Given the description of an element on the screen output the (x, y) to click on. 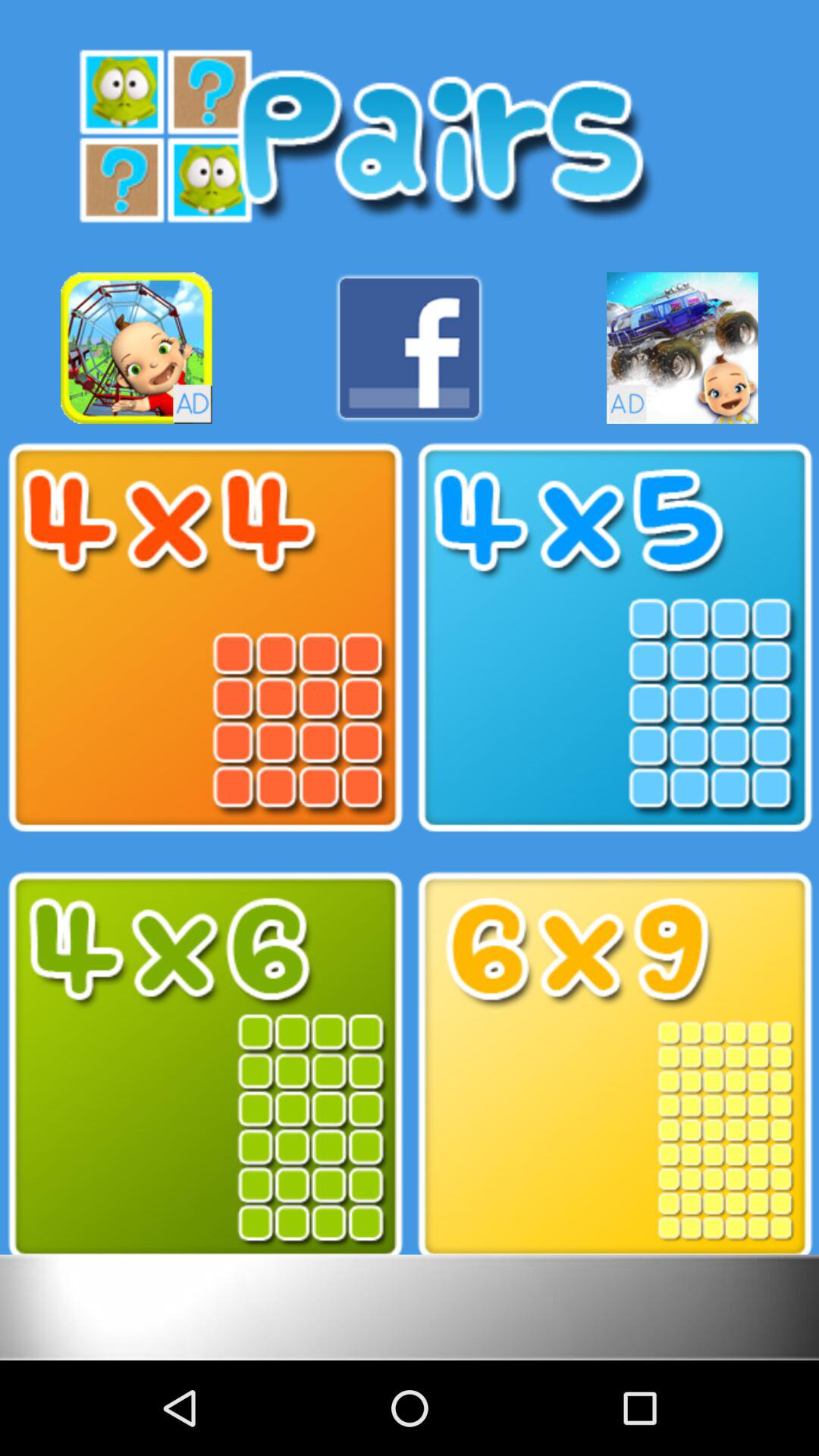
open 4x5 puzzle (614, 637)
